Given the description of an element on the screen output the (x, y) to click on. 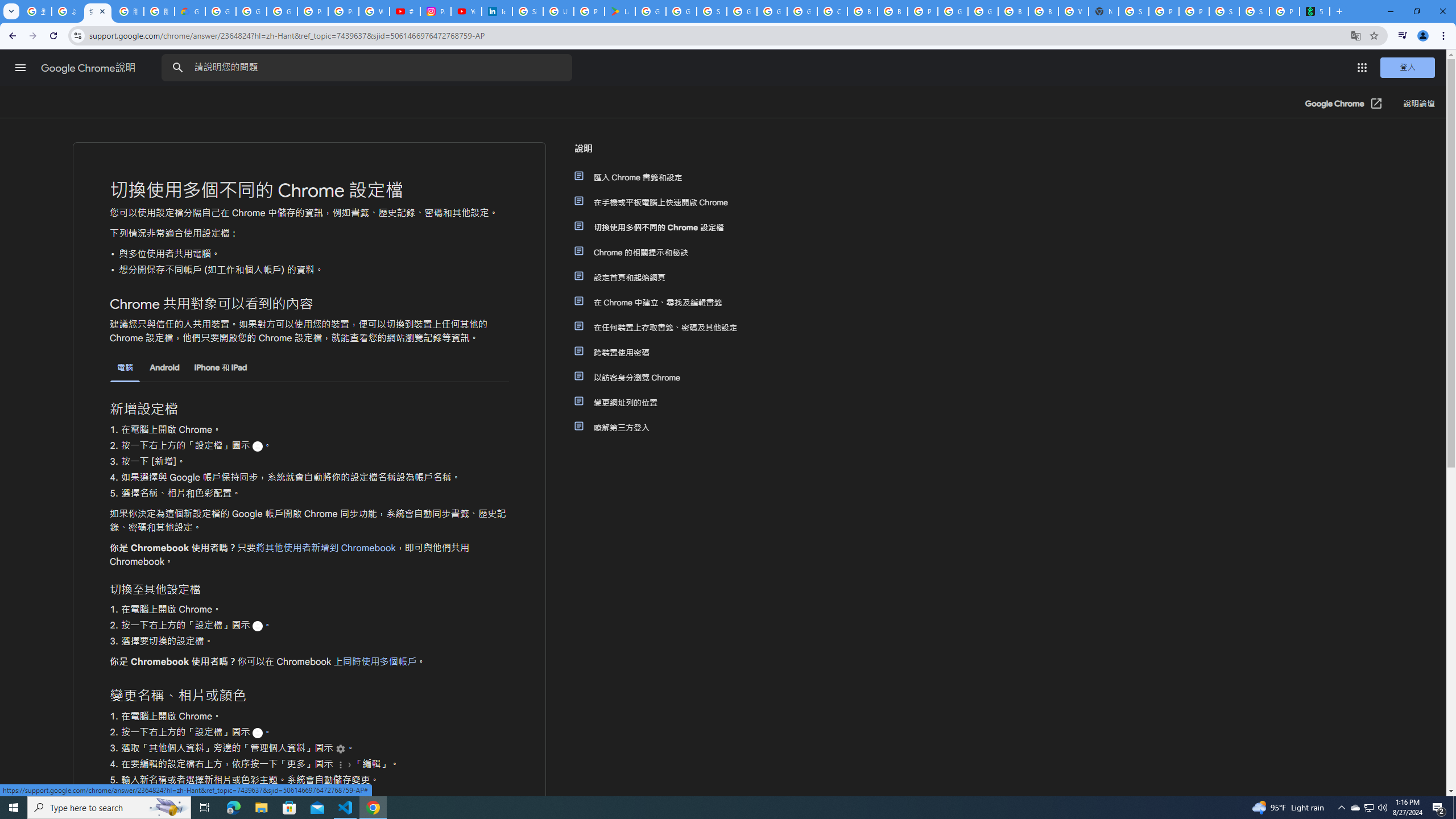
YouTube Culture & Trends - On The Rise: Handcam Videos (465, 11)
Google Cloud Platform (771, 11)
Privacy Help Center - Policies Help (343, 11)
